Given the description of an element on the screen output the (x, y) to click on. 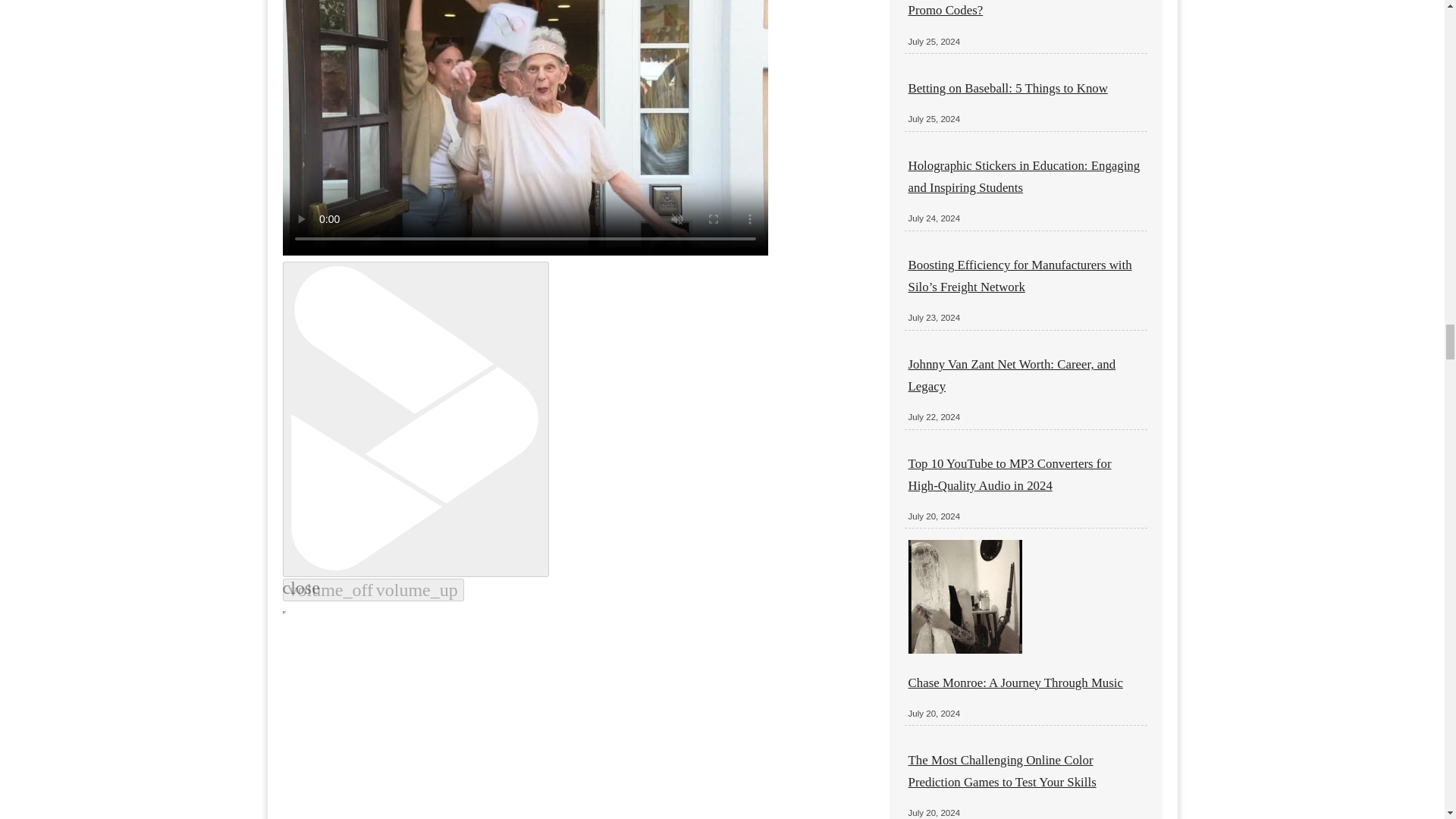
Johnny Van Zant Net Worth: Career, and Legacy (1012, 375)
 How to Save Money with Oneplus in India Promo Codes? (1019, 8)
Chase Monroe: A Journey Through Music (1015, 682)
Betting on Baseball: 5 Things to Know (1008, 88)
